Given the description of an element on the screen output the (x, y) to click on. 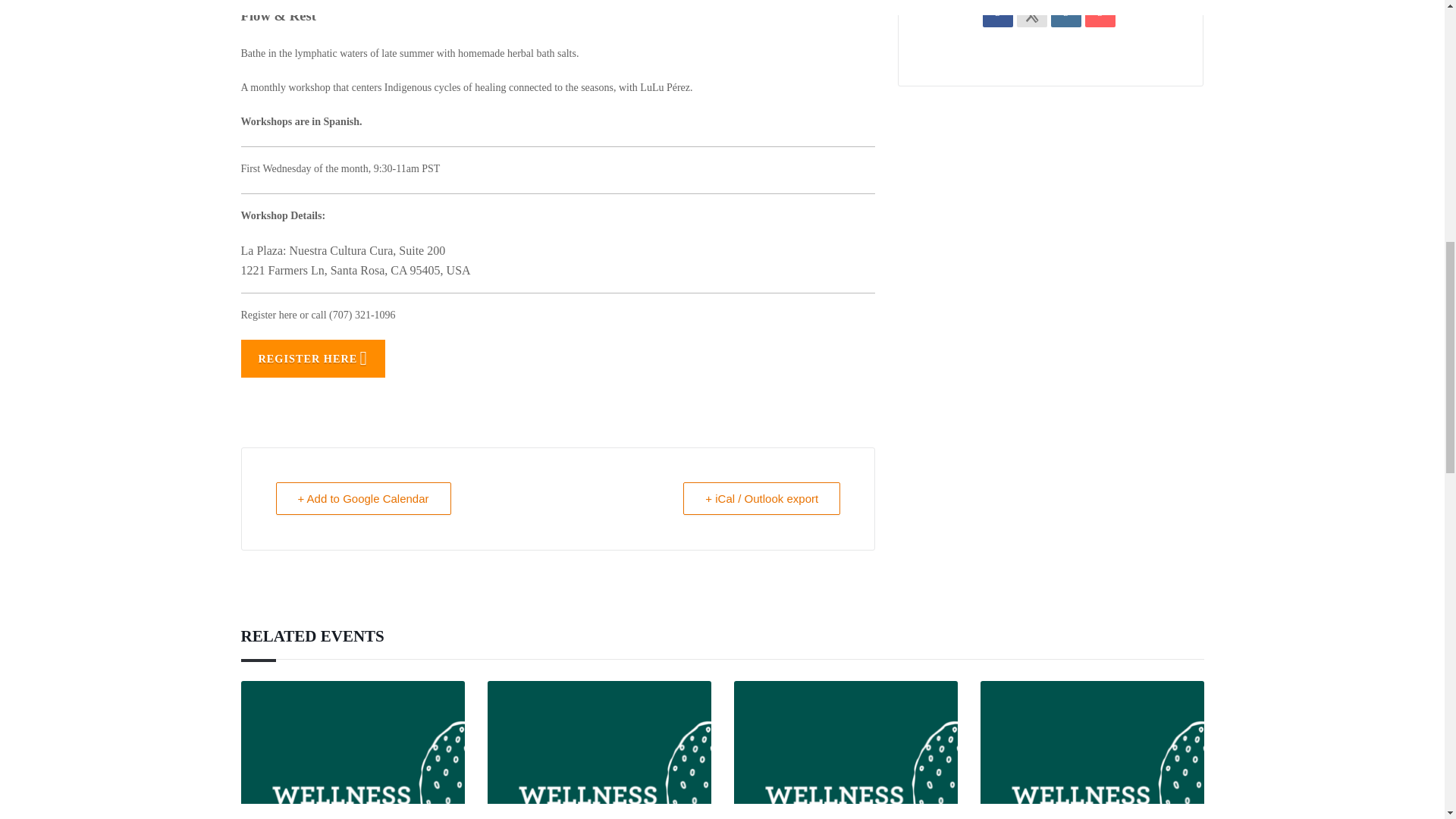
Email (1099, 13)
X Social Network (1031, 13)
Share on Facebook (997, 13)
Linkedin (1066, 13)
